Given the description of an element on the screen output the (x, y) to click on. 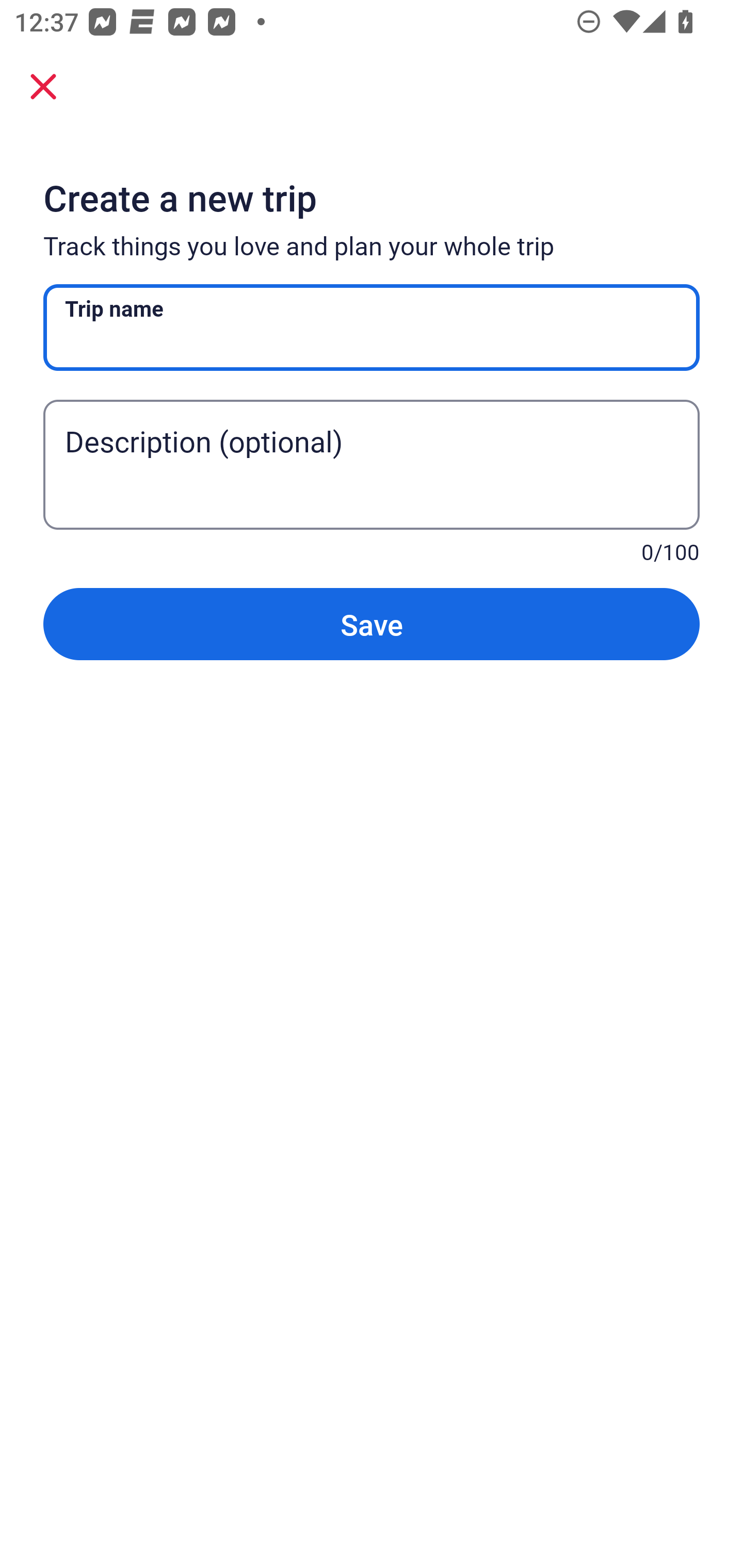
Close (43, 86)
Trip name (371, 327)
Save Button Save (371, 624)
